Given the description of an element on the screen output the (x, y) to click on. 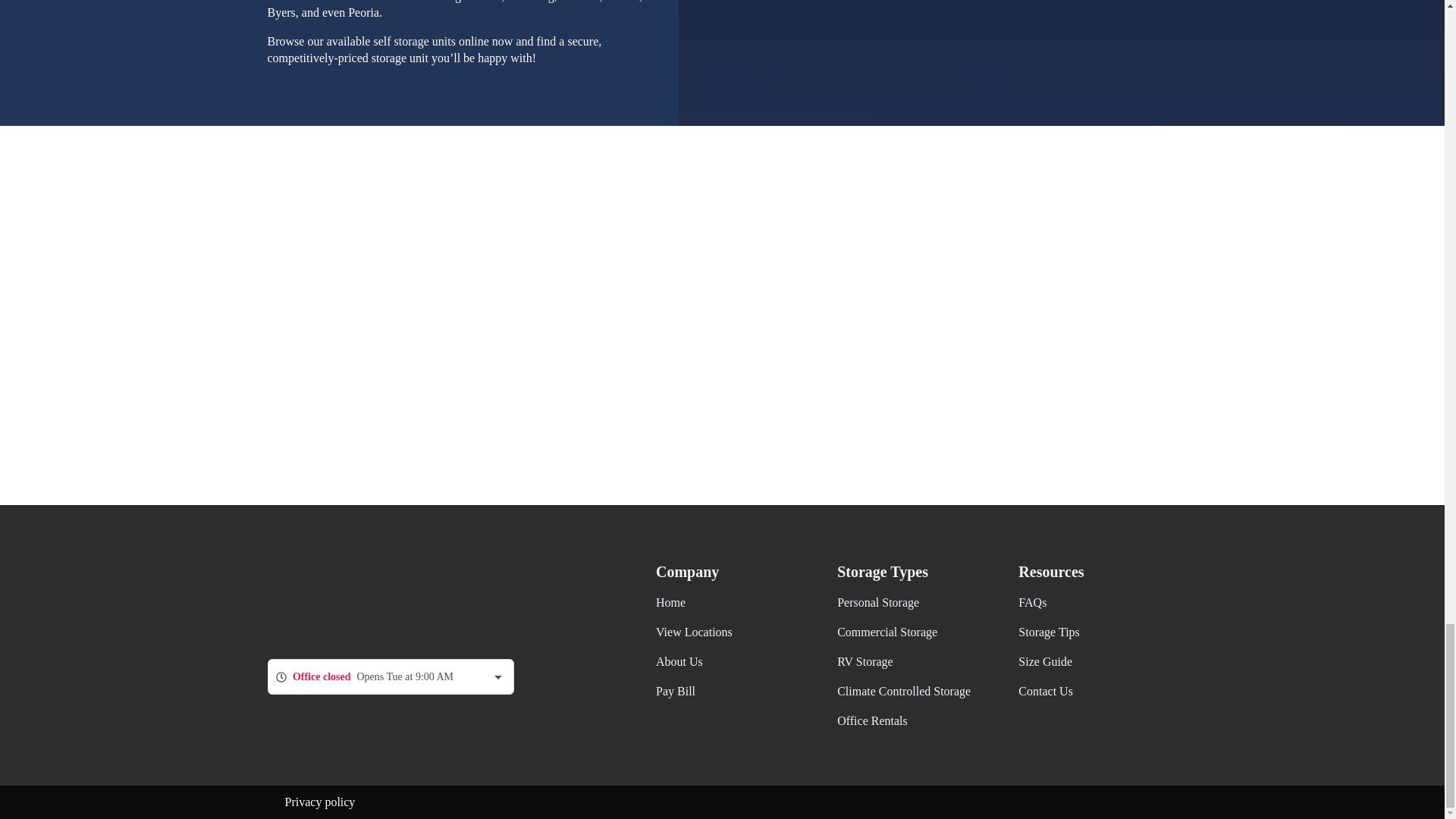
Size Guide (1044, 661)
FAQs (1031, 602)
Commercial Storage (887, 631)
Storage Tips (1047, 631)
View Locations (694, 631)
Blue Sky Self Storage Logo White (352, 599)
RV Storage (865, 661)
Climate Controlled Storage (904, 690)
Contact Us (1045, 690)
Office Rentals (872, 720)
